Given the description of an element on the screen output the (x, y) to click on. 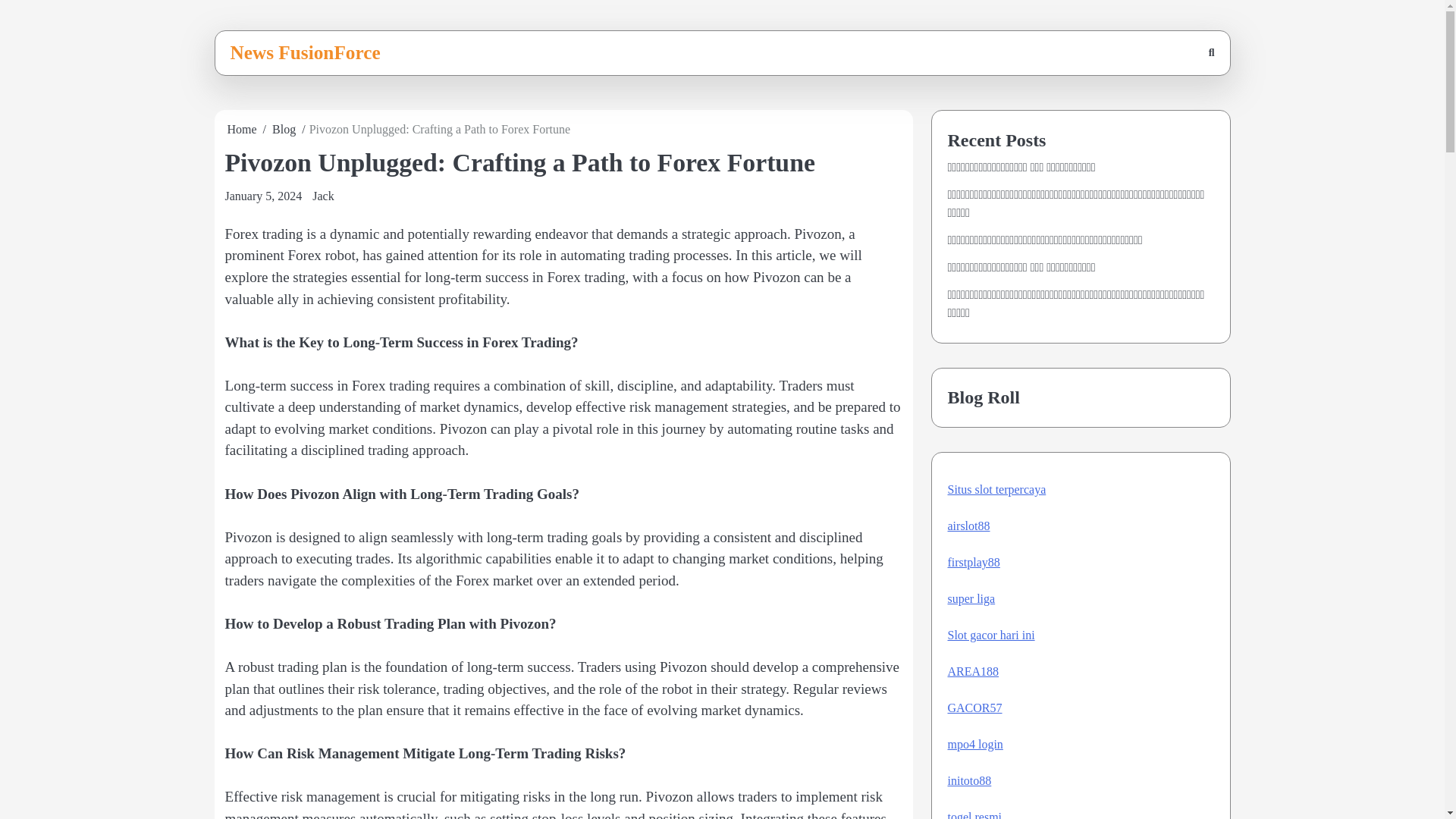
airslot88 (968, 525)
initoto88 (969, 780)
Home (242, 128)
News FusionForce (305, 52)
mpo4 login (975, 744)
firstplay88 (973, 562)
Situs slot terpercaya (996, 489)
AREA188 (972, 671)
GACOR57 (975, 707)
Blog (283, 128)
